Given the description of an element on the screen output the (x, y) to click on. 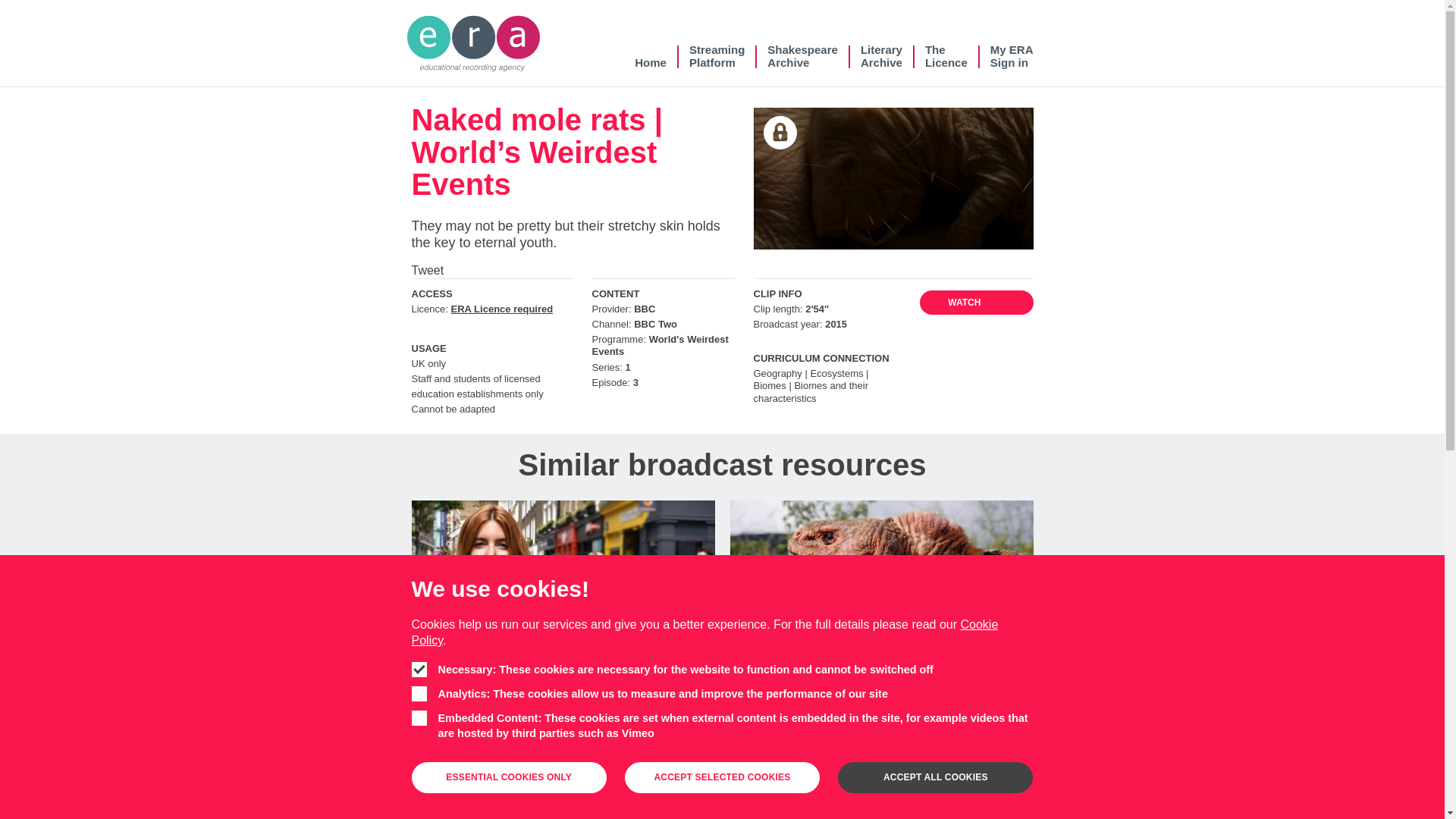
Tweet (716, 56)
Home (427, 269)
ERA Licence required (650, 56)
